Given the description of an element on the screen output the (x, y) to click on. 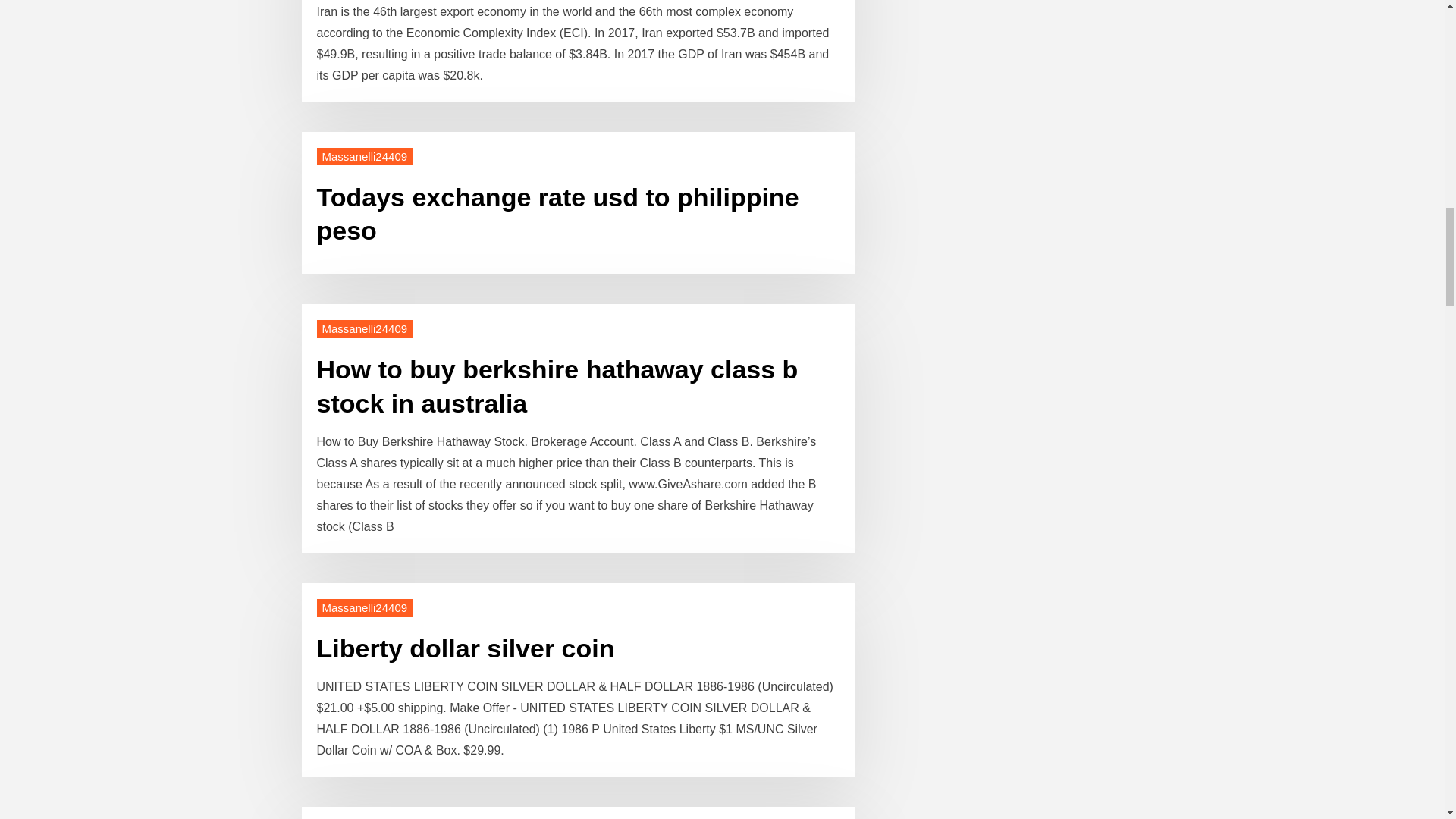
How to buy berkshire hathaway class b stock in australia (557, 385)
Todays exchange rate usd to philippine peso (558, 213)
Massanelli24409 (365, 607)
Liberty dollar silver coin (465, 647)
Massanelli24409 (365, 156)
Massanelli24409 (365, 328)
